Given the description of an element on the screen output the (x, y) to click on. 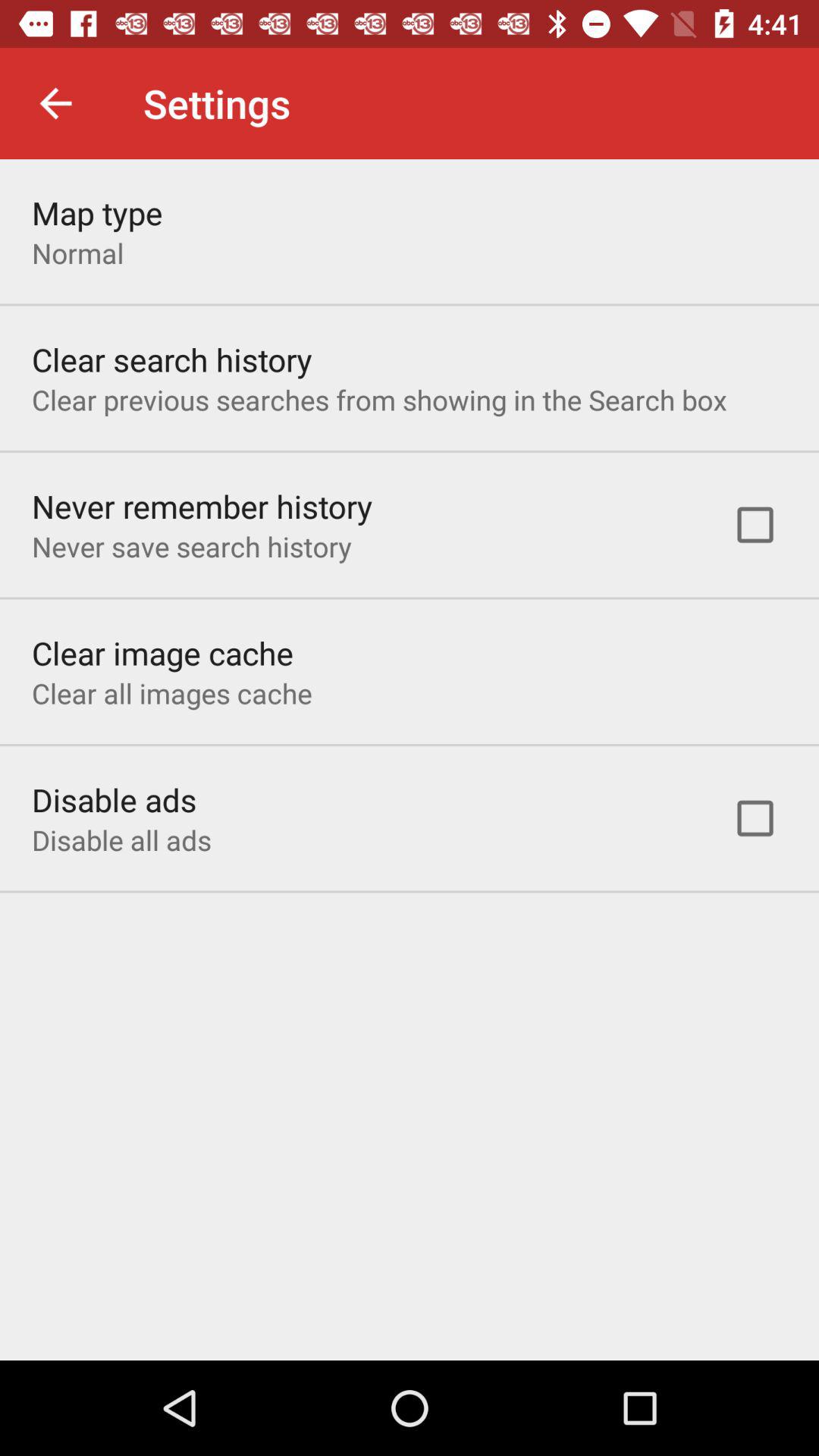
open the item below map type (77, 252)
